Given the description of an element on the screen output the (x, y) to click on. 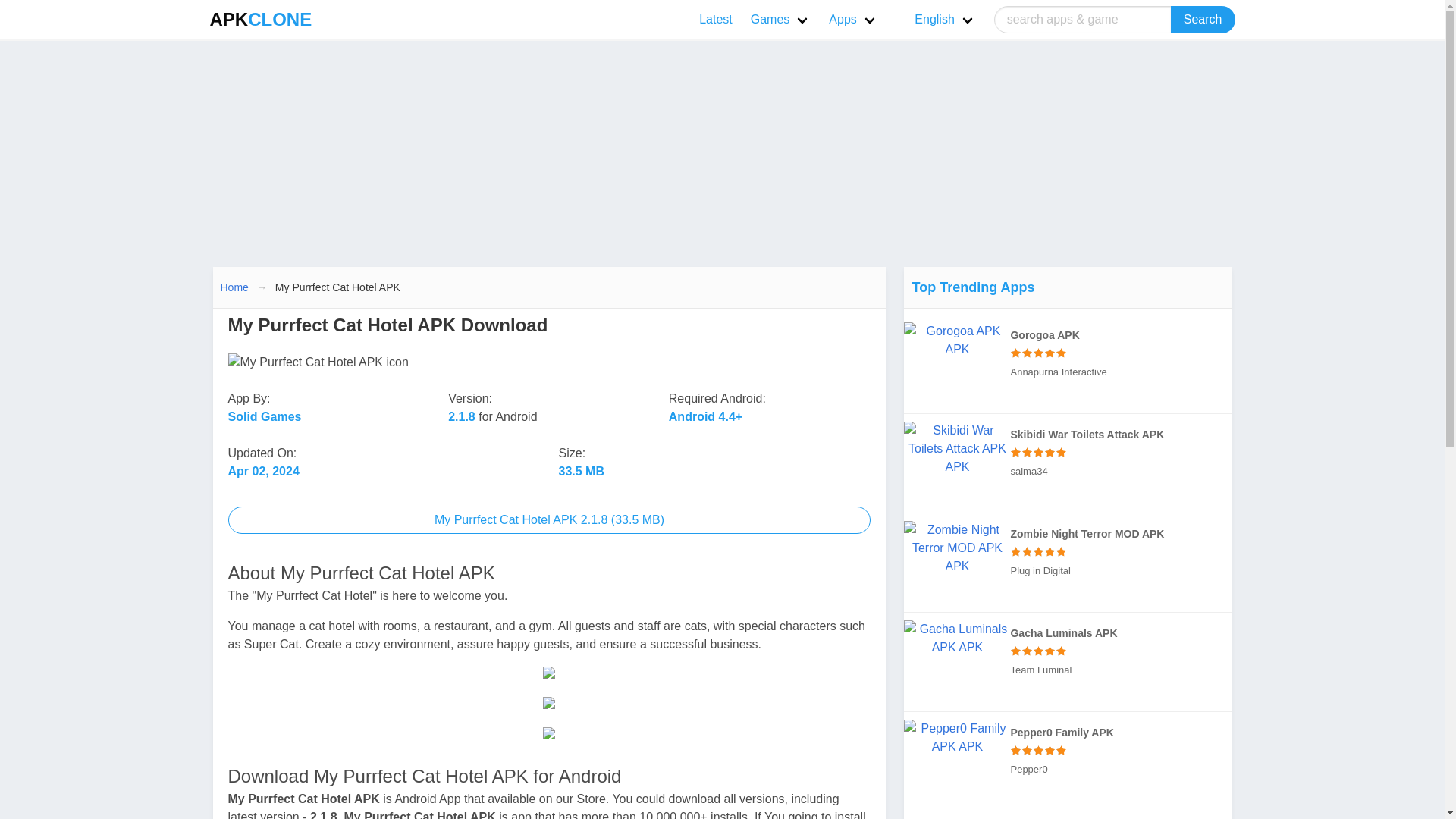
Latest (715, 19)
APKCLONE (260, 19)
English (935, 19)
Skibidi War Toilets Attack APK APK (1067, 463)
Gorogoa APK (1120, 353)
Apps (852, 19)
Gorogoa APK (957, 340)
Games (781, 19)
My Purrfect Cat Hotel APK (548, 519)
Skibidi War Toilets Attack APK (1120, 452)
Zombie Night Terror MOD APK APK (1067, 562)
Zombie Night Terror MOD APK (957, 547)
Skibidi War Toilets Attack APK (957, 448)
Gacha Luminals APK (957, 637)
